Given the description of an element on the screen output the (x, y) to click on. 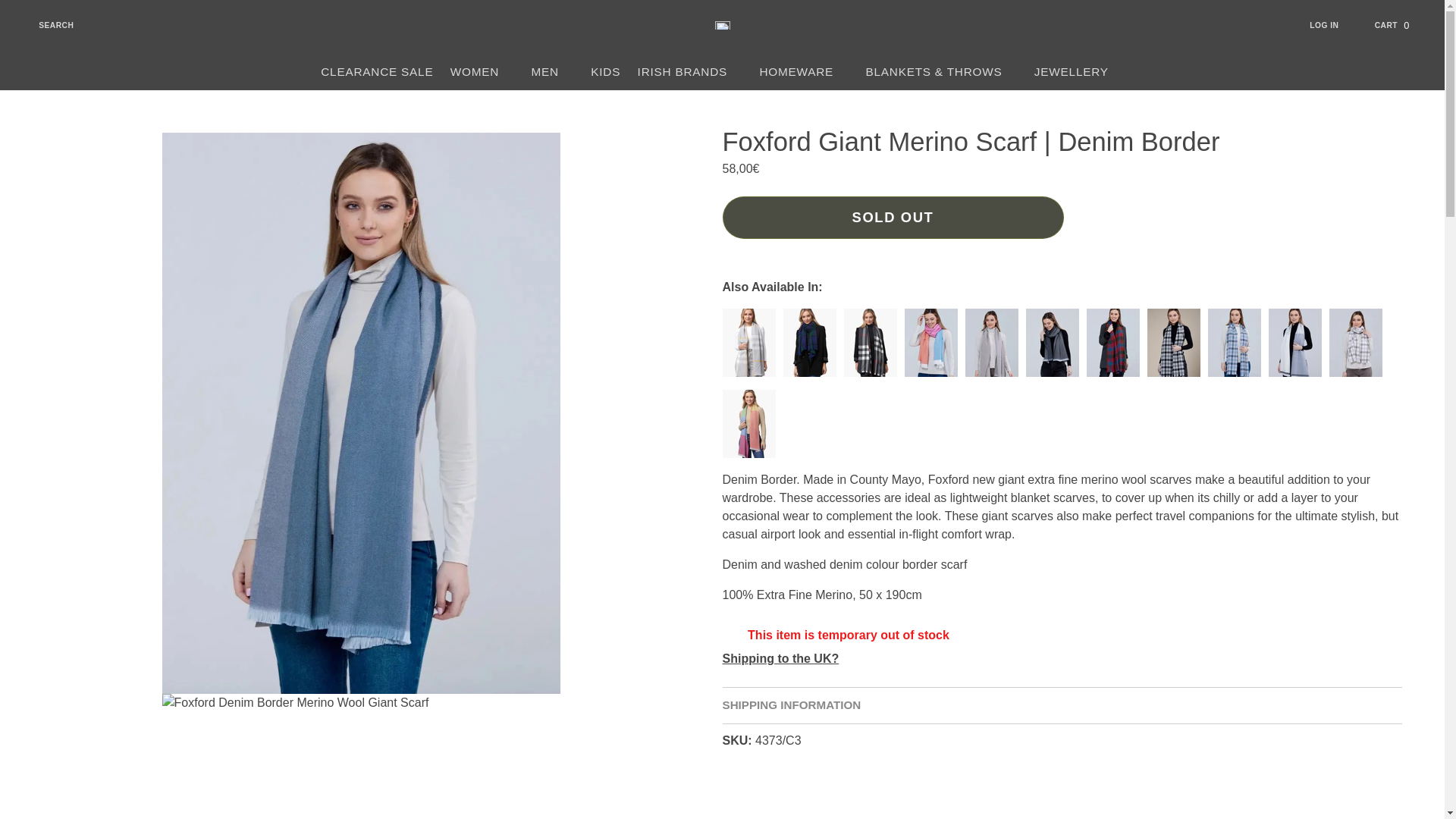
SEARCH (1400, 25)
CLEARANCE SALE (45, 25)
WOMEN (377, 71)
IRISH BRANDS (482, 71)
MEN (689, 71)
LOG IN (552, 71)
KIDS (1333, 25)
